Given the description of an element on the screen output the (x, y) to click on. 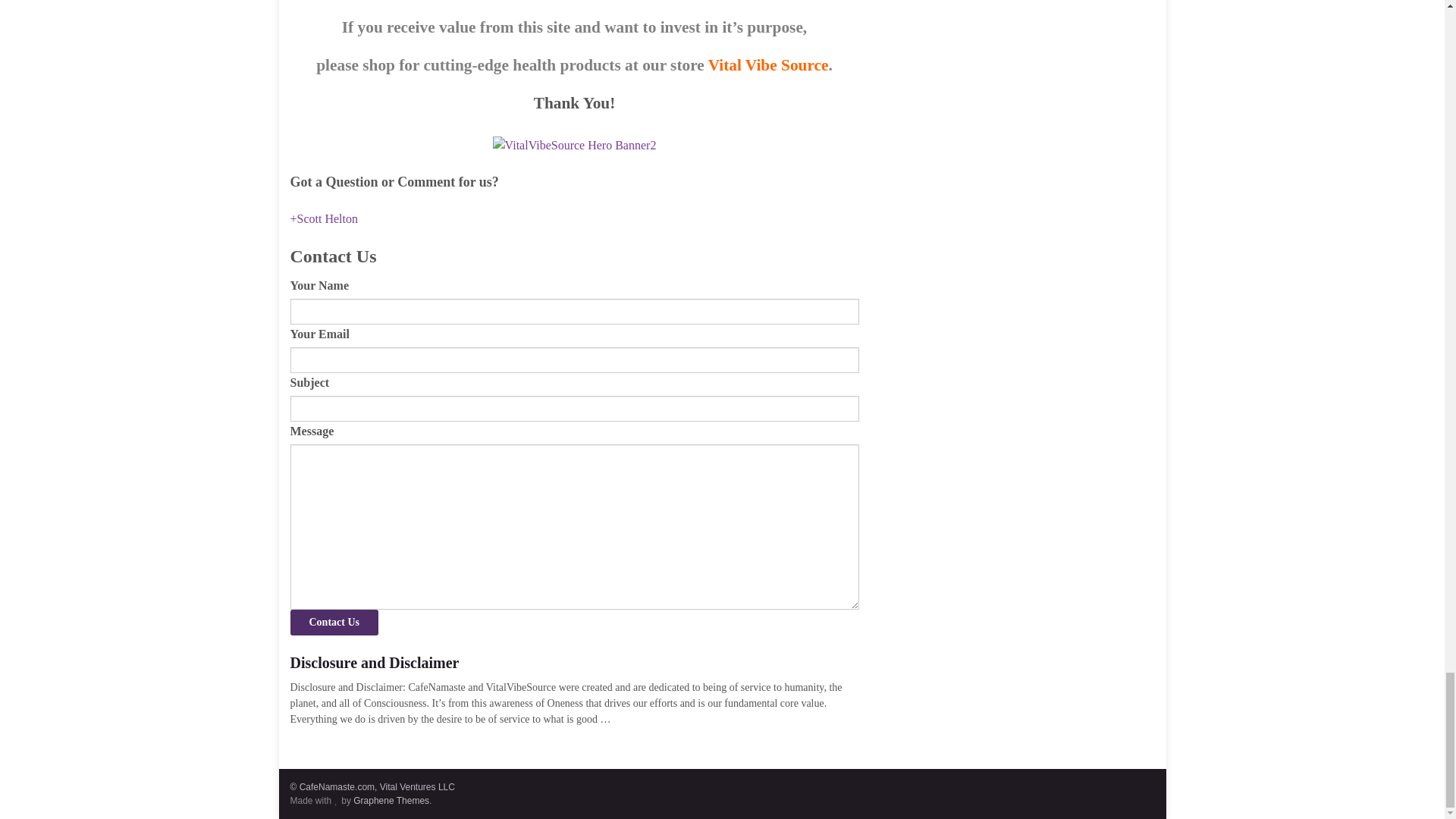
Permalink to Disclosure and Disclaimer (574, 662)
Contact Us (333, 622)
